Given the description of an element on the screen output the (x, y) to click on. 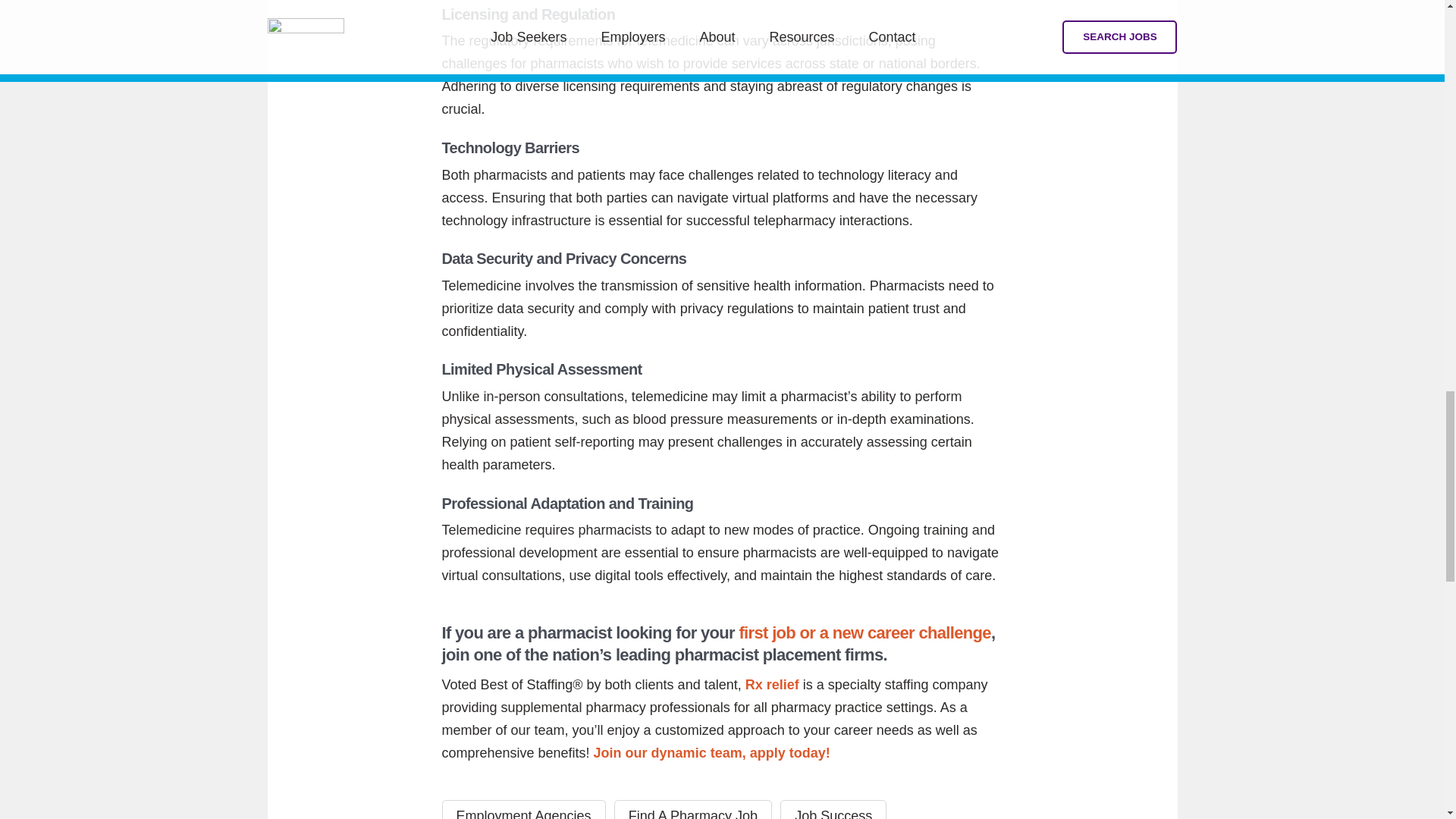
Employment Agencies (523, 809)
Join our dynamic team, apply today! (711, 752)
Job Success (833, 809)
Rx relief (772, 684)
Find A Pharmacy Job (692, 809)
first job or a new career challenge (864, 632)
